Given the description of an element on the screen output the (x, y) to click on. 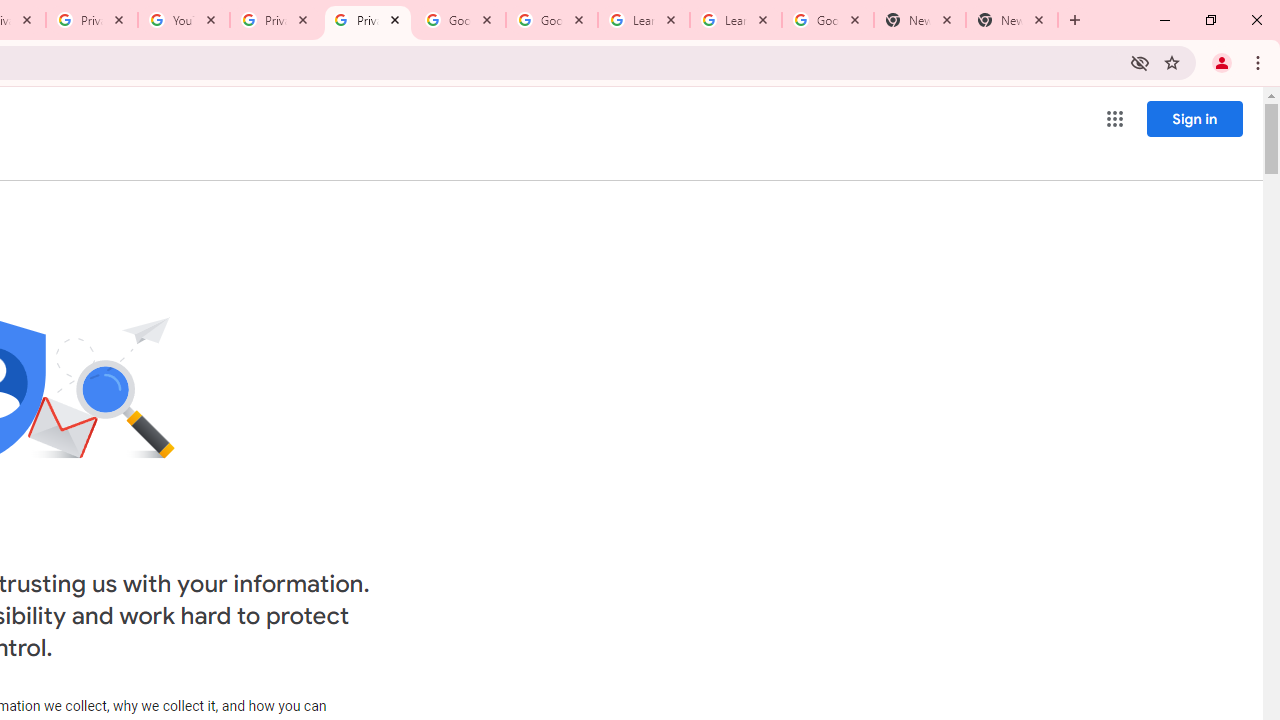
YouTube (184, 20)
New Tab (1012, 20)
New Tab (920, 20)
Google Account (828, 20)
